Given the description of an element on the screen output the (x, y) to click on. 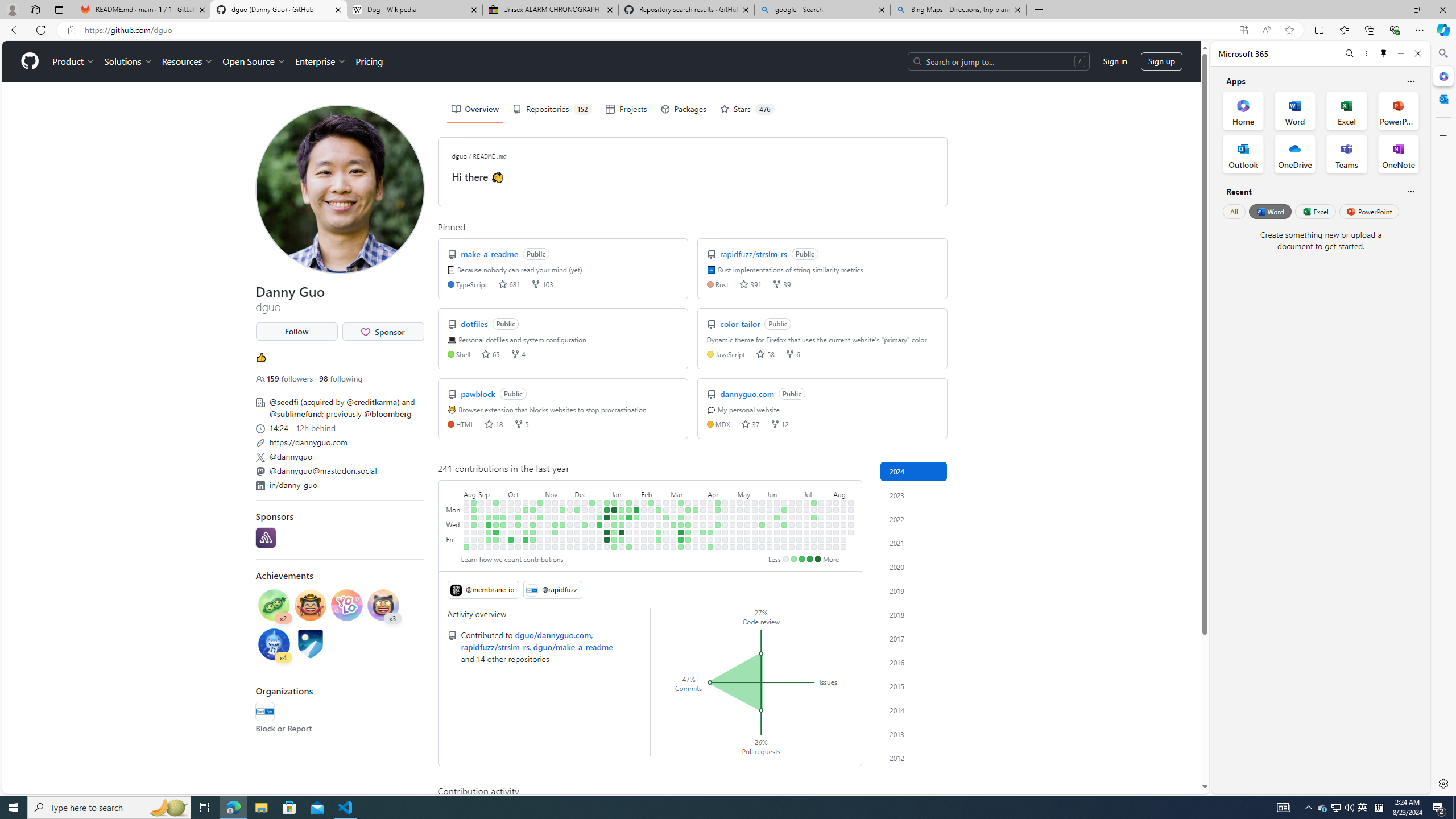
No contributions on April 2nd. (703, 517)
App available. Install GitHub (1243, 29)
No contributions on November 7th. (547, 517)
No contributions on July 31st. (828, 524)
No contributions on September 16th. (489, 546)
No contributions on December 1st. (569, 539)
Contribution activity in 2016 (913, 662)
No contributions on June 29th. (791, 546)
2 contributions on December 26th. (599, 517)
No contributions on June 28th. (791, 539)
Wednesday (454, 524)
stars 391 (750, 283)
Packages (683, 108)
No contributions on April 12th. (710, 539)
color-tailor (741, 323)
